Given the description of an element on the screen output the (x, y) to click on. 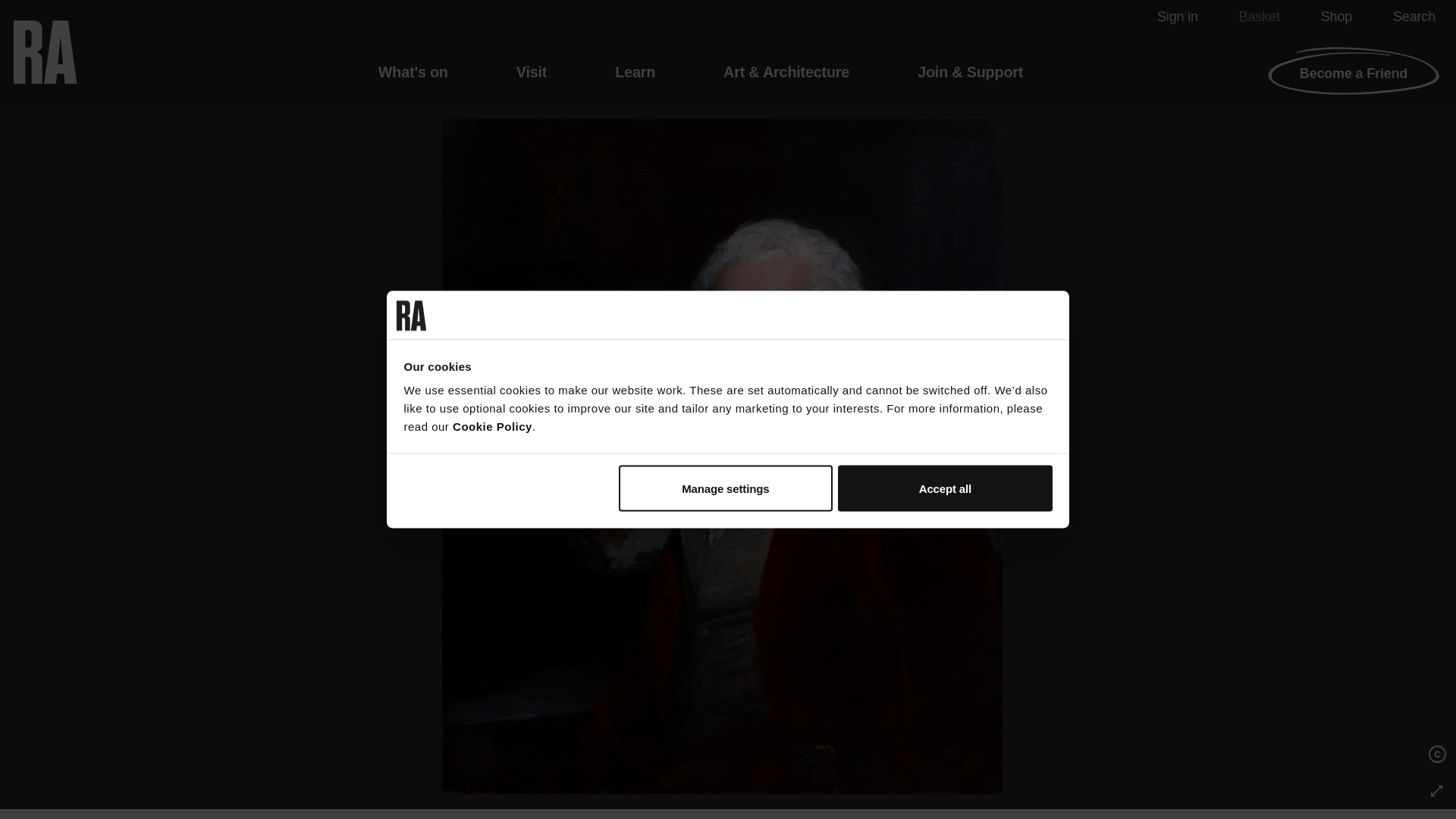
Cookie Policy (492, 426)
